Given the description of an element on the screen output the (x, y) to click on. 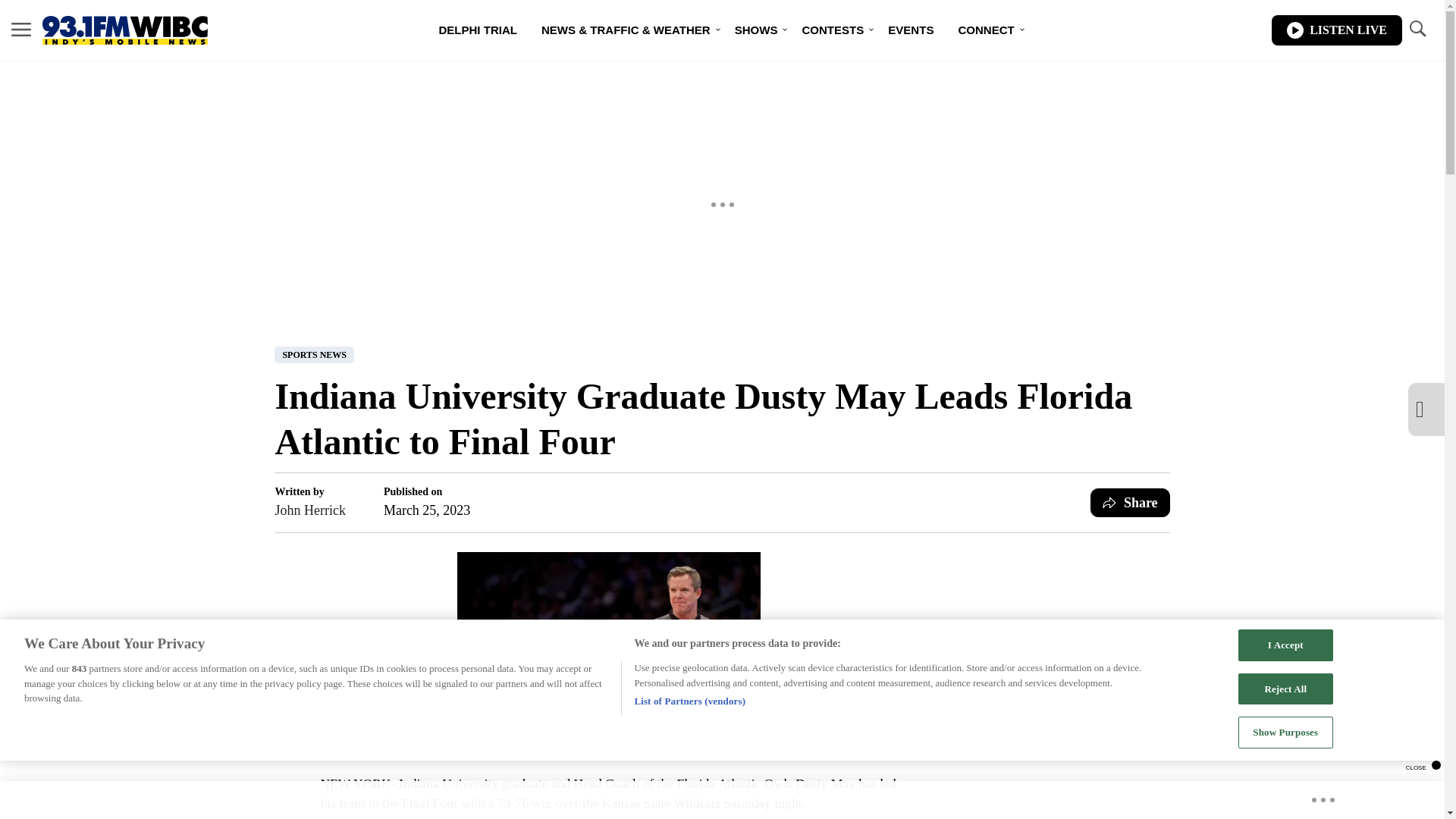
TOGGLE SEARCH (1417, 28)
CONNECT (985, 30)
CONTESTS (832, 30)
TOGGLE SEARCH (1417, 30)
MENU (20, 29)
SHOWS (756, 30)
MENU (20, 30)
LISTEN LIVE (1336, 30)
DELPHI TRIAL (477, 30)
EVENTS (910, 30)
